Given the description of an element on the screen output the (x, y) to click on. 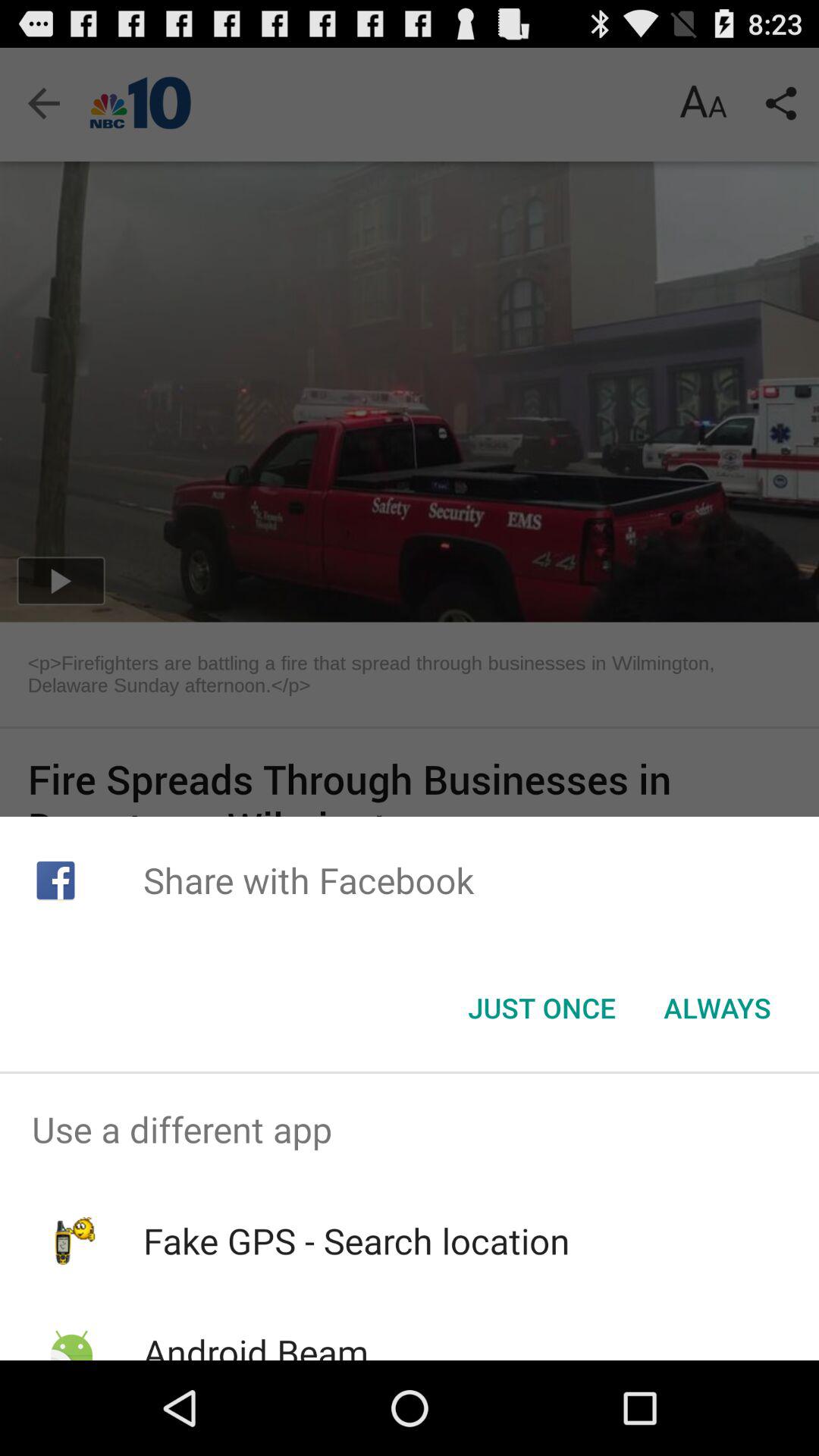
launch just once (541, 1007)
